Given the description of an element on the screen output the (x, y) to click on. 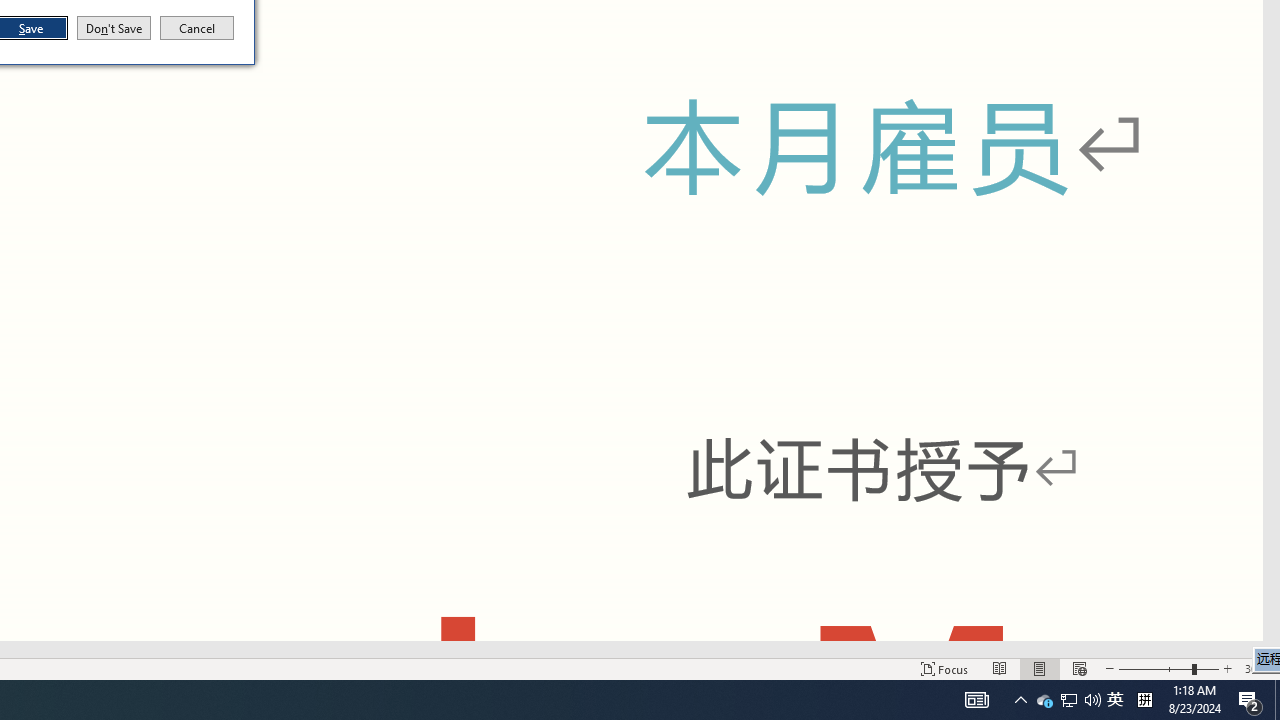
Q2790: 100% (1092, 699)
Read Mode (1115, 699)
Show desktop (1000, 668)
Focus  (1277, 699)
Zoom In (944, 668)
Zoom Out (1227, 668)
Zoom (1069, 699)
AutomationID: 4105 (1154, 668)
Tray Input Indicator - Chinese (Simplified, China) (1168, 668)
Web Layout (976, 699)
Zoom 308% (1144, 699)
